Given the description of an element on the screen output the (x, y) to click on. 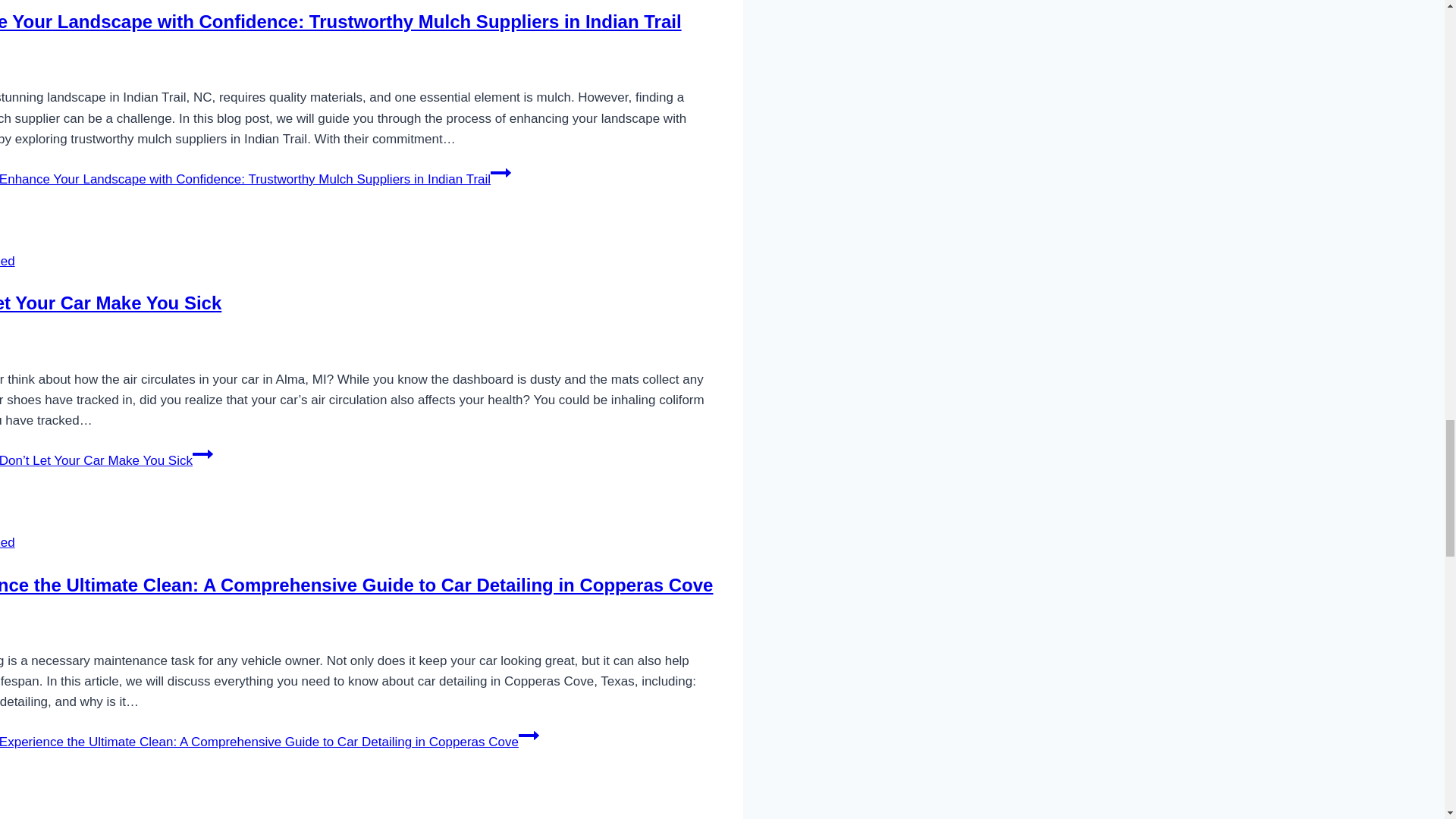
Uncategorized (7, 260)
Continue (500, 172)
Uncategorized (7, 542)
Continue (202, 454)
Continue (528, 735)
Uncategorized (7, 817)
